Given the description of an element on the screen output the (x, y) to click on. 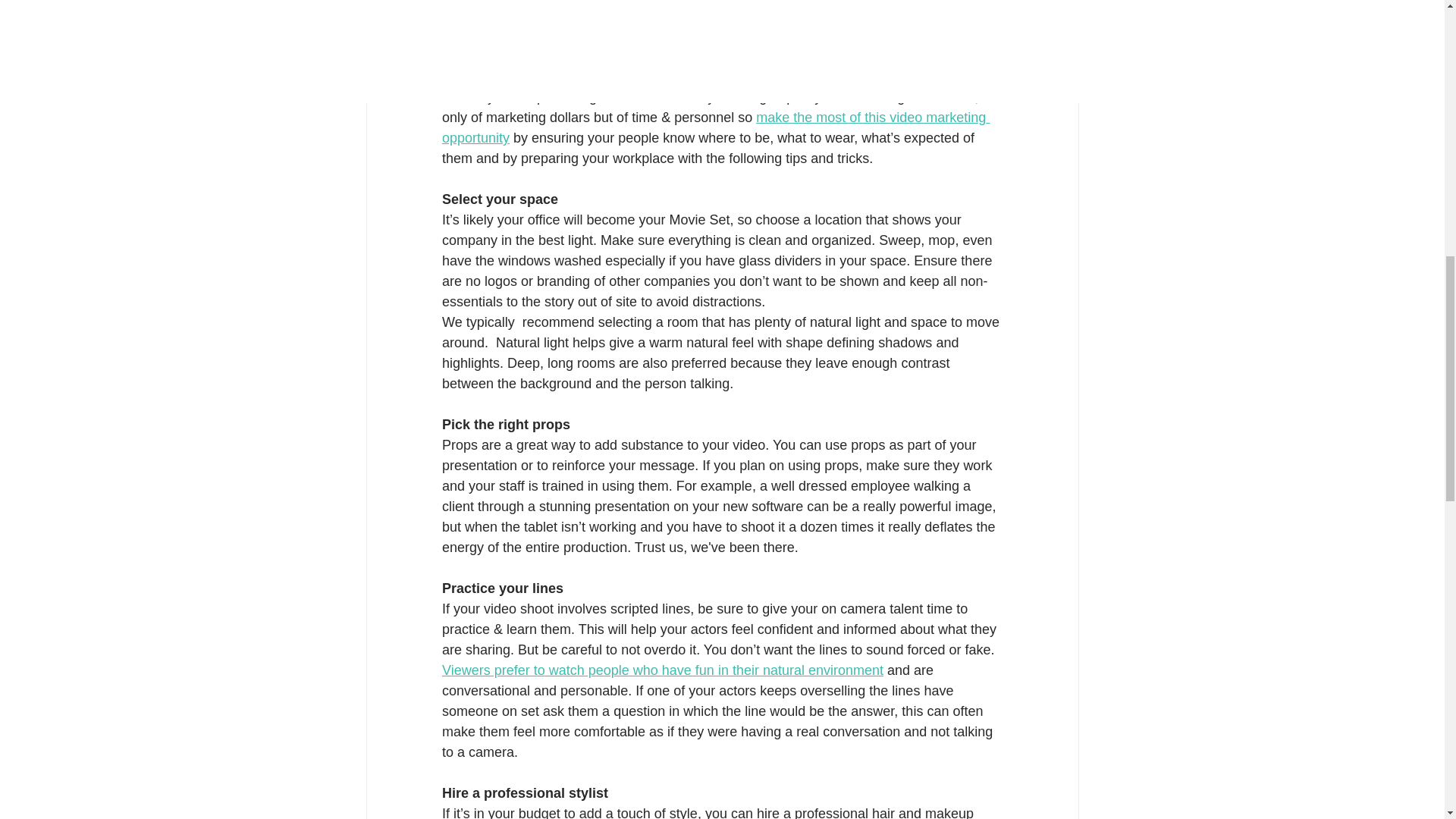
make the most of this video marketing opportunity (714, 127)
